Given the description of an element on the screen output the (x, y) to click on. 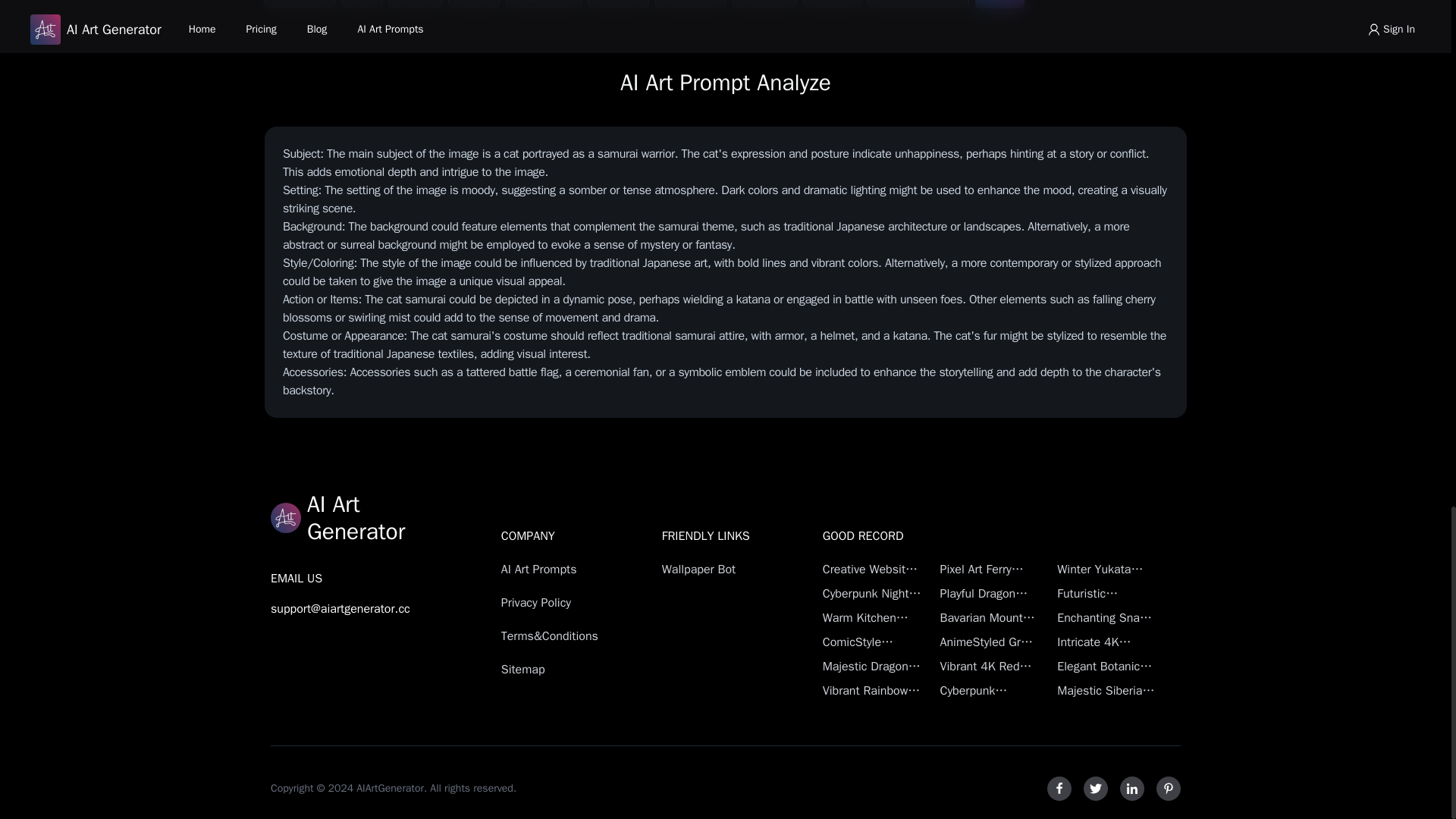
Sitemap (553, 669)
Privacy Policy (553, 602)
Mood (473, 4)
Bavarian Mountain Landscape German Flag and Eagle Banner (989, 618)
Majestic Dragon Adorns Church with Quirky Sock Art (871, 666)
AI Art Prompts (553, 569)
Expression (543, 4)
ComicStyle Newspaper Reading Scene (871, 642)
Samurai (764, 4)
Wallpaper Bot (715, 569)
AI Art Prompts (553, 569)
AnimeStyled Gray Door to the Toilet (989, 642)
